Given the description of an element on the screen output the (x, y) to click on. 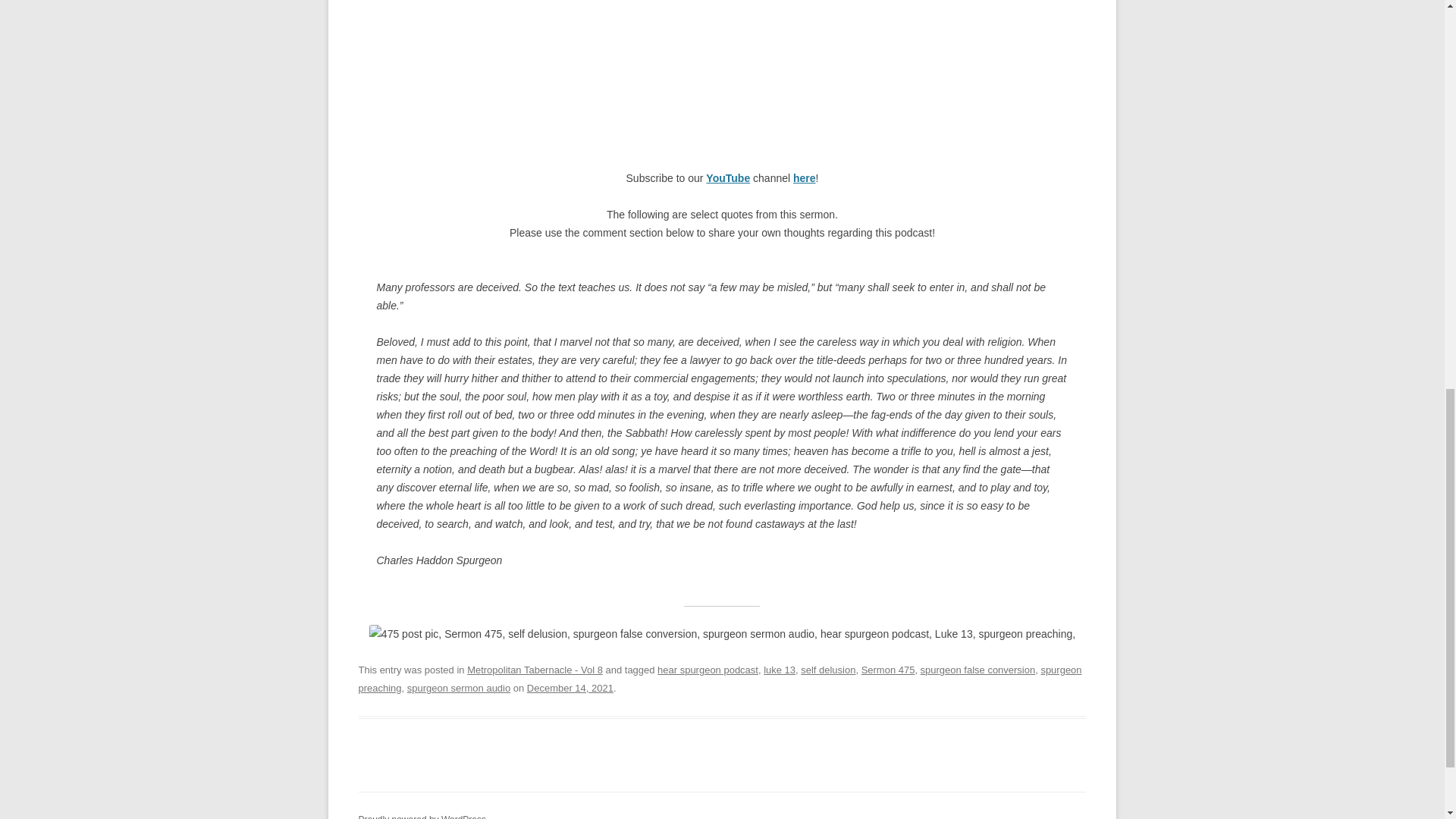
self delusion (828, 669)
spurgeon false conversion (977, 669)
3:30 AM (569, 687)
Proudly powered by WordPress (422, 816)
spurgeon sermon audio (459, 687)
hear spurgeon podcast (708, 669)
here (804, 177)
Metropolitan Tabernacle - Vol 8 (534, 669)
Semantic Personal Publishing Platform (422, 816)
luke 13 (778, 669)
